Given the description of an element on the screen output the (x, y) to click on. 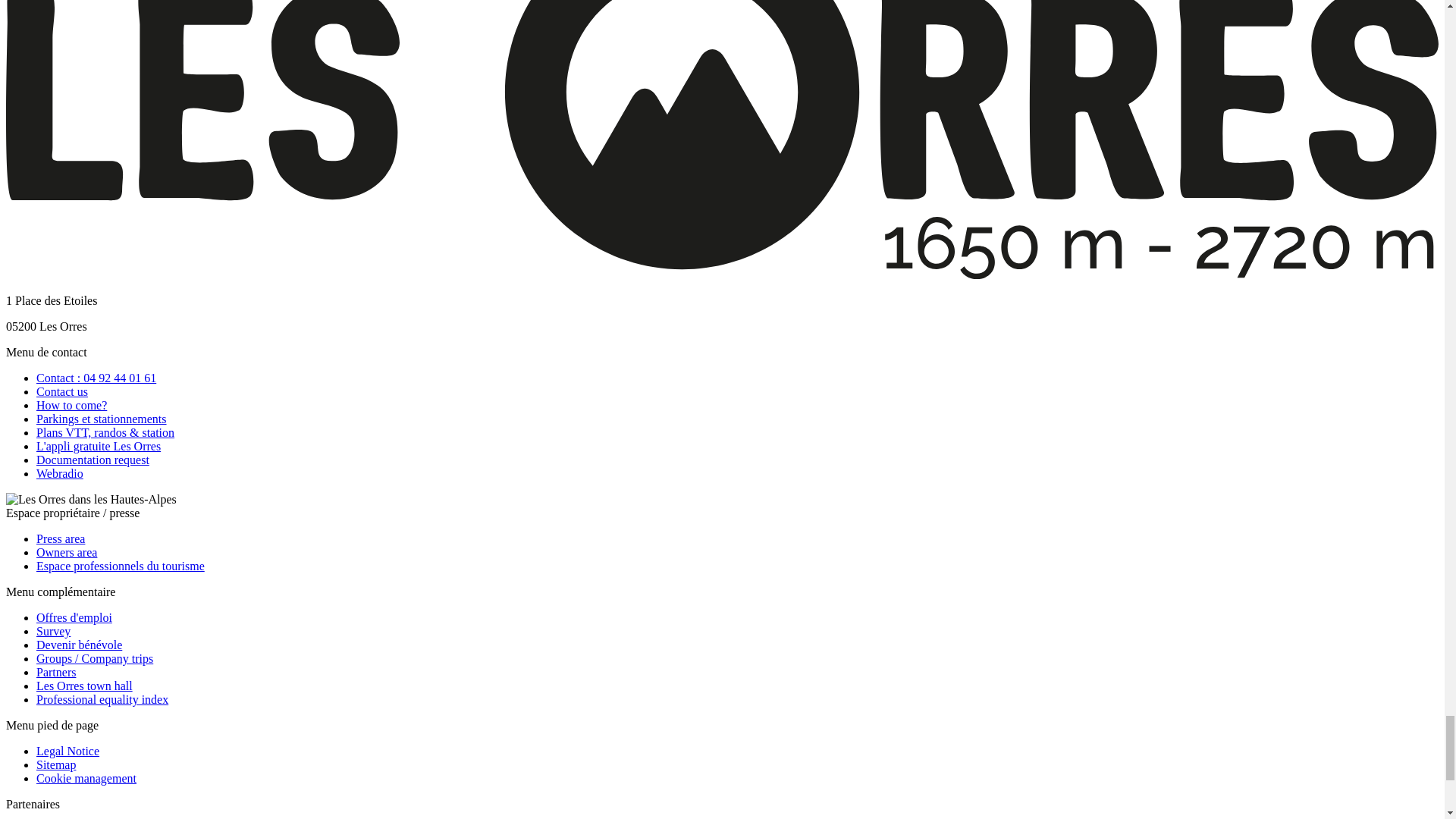
Offre d'emploi aux Orres (74, 617)
